Given the description of an element on the screen output the (x, y) to click on. 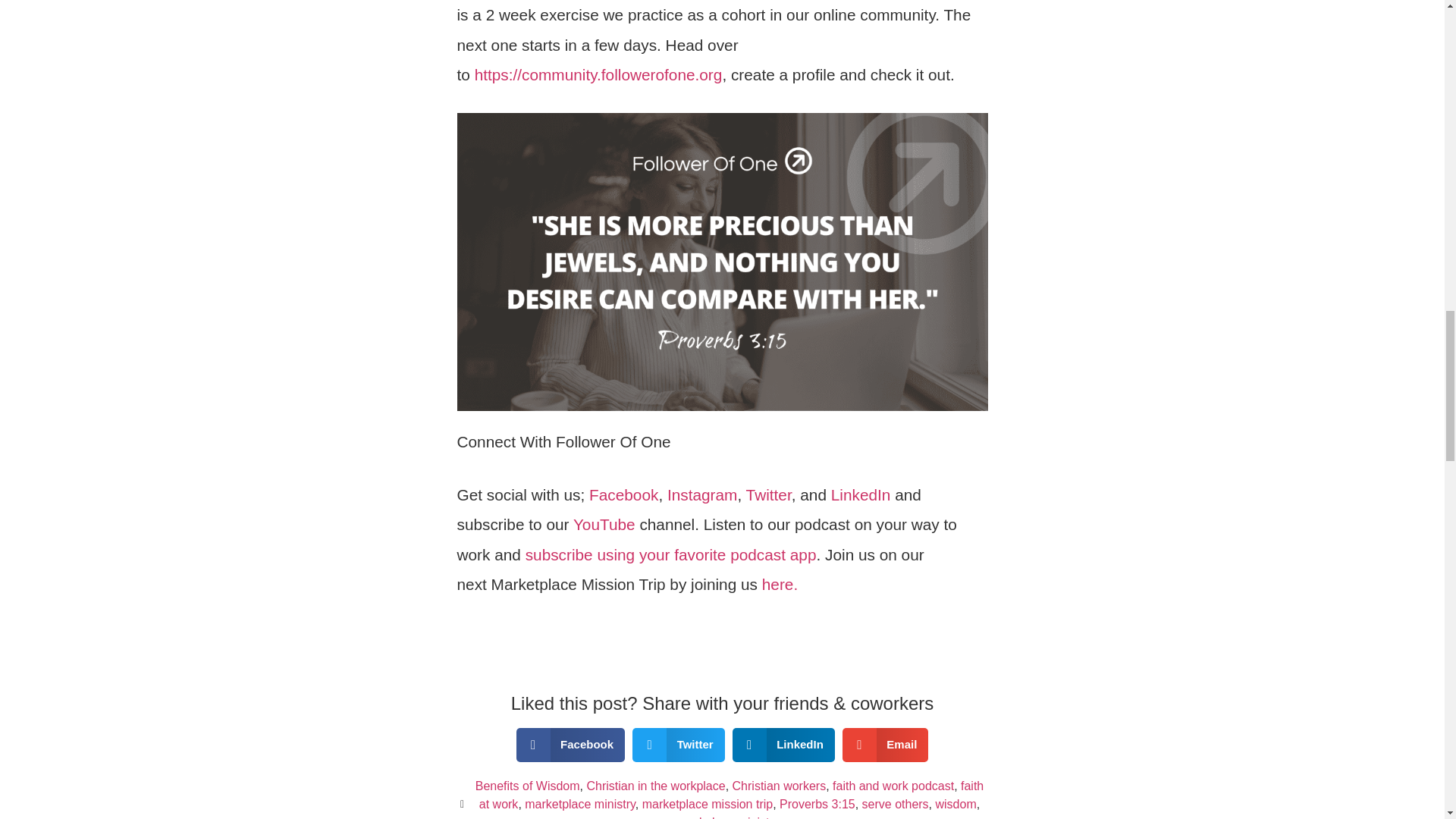
here. (779, 583)
Facebook (623, 494)
Instagram (701, 494)
subscribe using your favorite podcast app (670, 554)
YouTube (603, 524)
Twitter (768, 494)
LinkedIn (861, 494)
Benefits of Wisdom (527, 785)
